Given the description of an element on the screen output the (x, y) to click on. 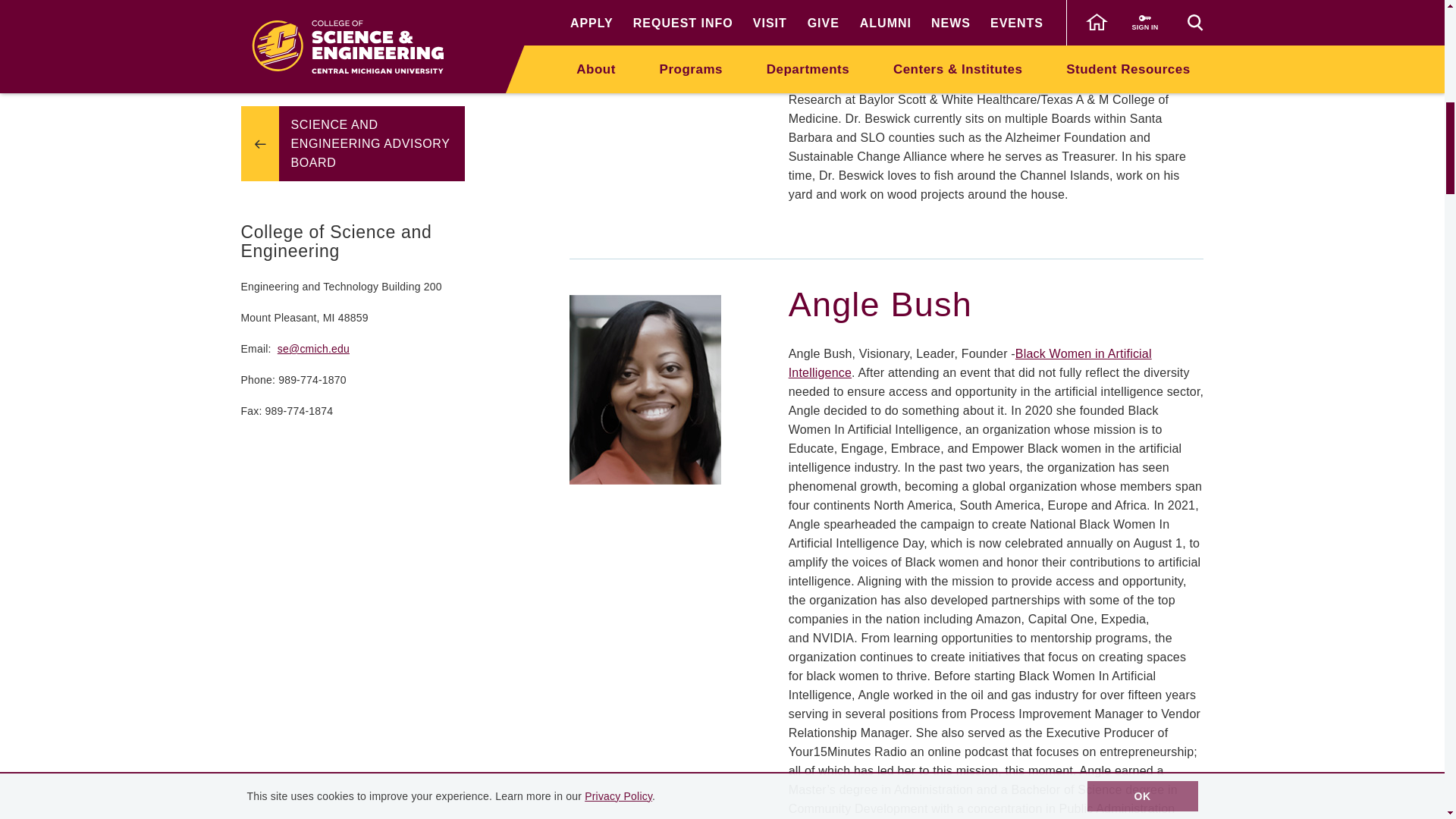
Black Women in Artificial Intelligence (970, 363)
Cottage Health (895, 23)
